Given the description of an element on the screen output the (x, y) to click on. 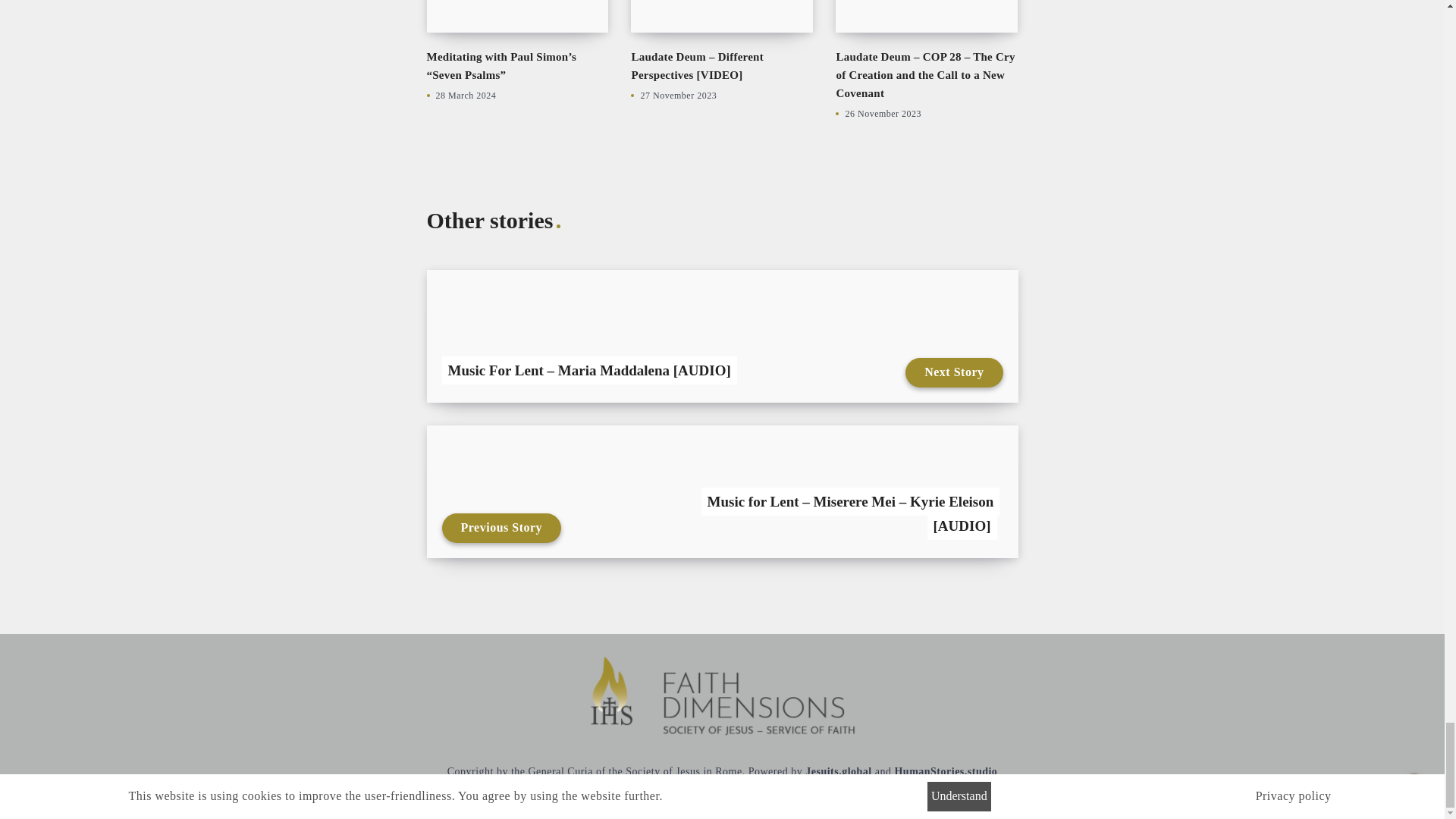
Jesuits.global (838, 771)
HumanStories.studio (945, 771)
